Given the description of an element on the screen output the (x, y) to click on. 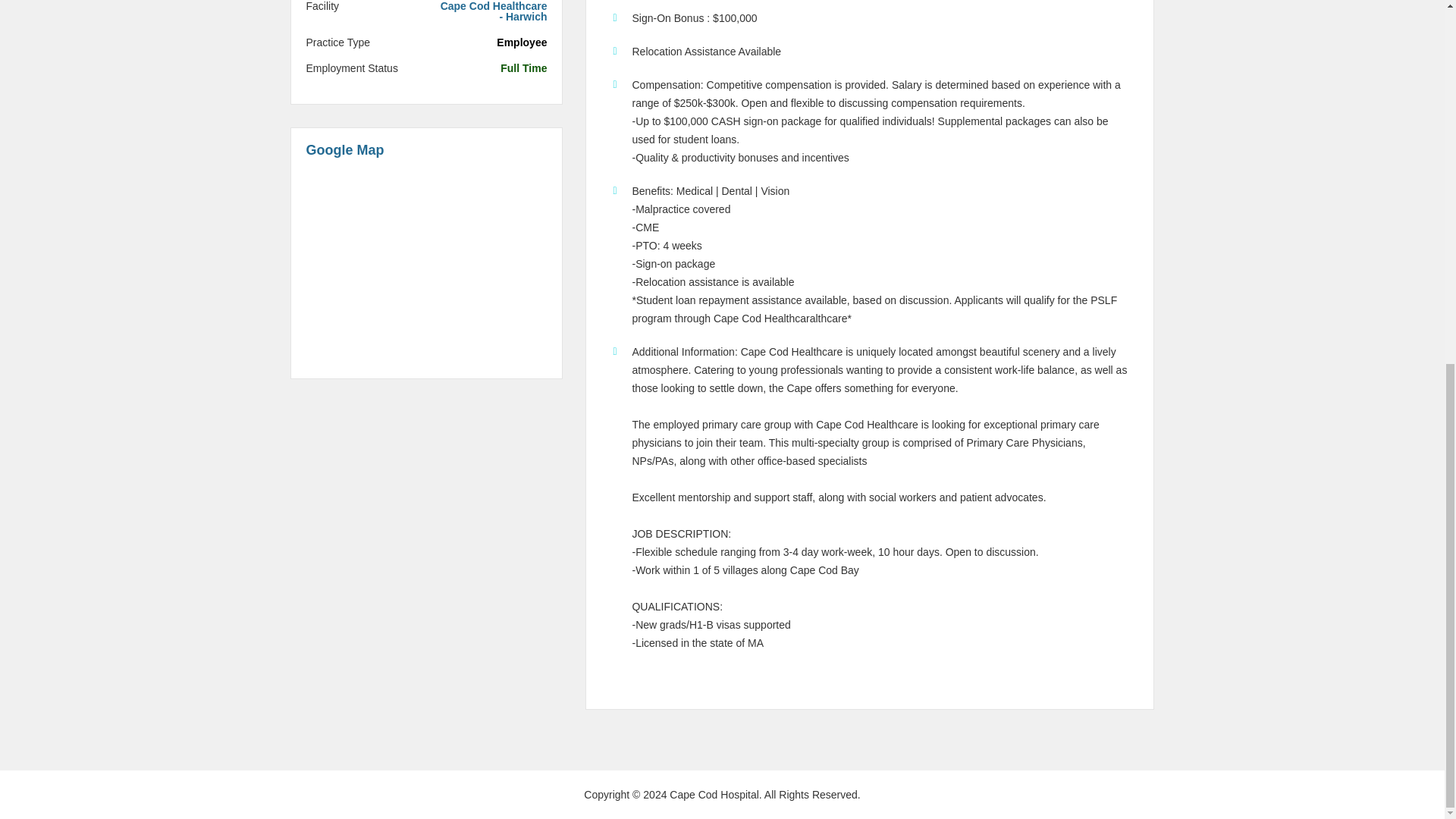
Map for this facility (426, 266)
Cape Cod Healthcare - Harwich (492, 11)
